Given the description of an element on the screen output the (x, y) to click on. 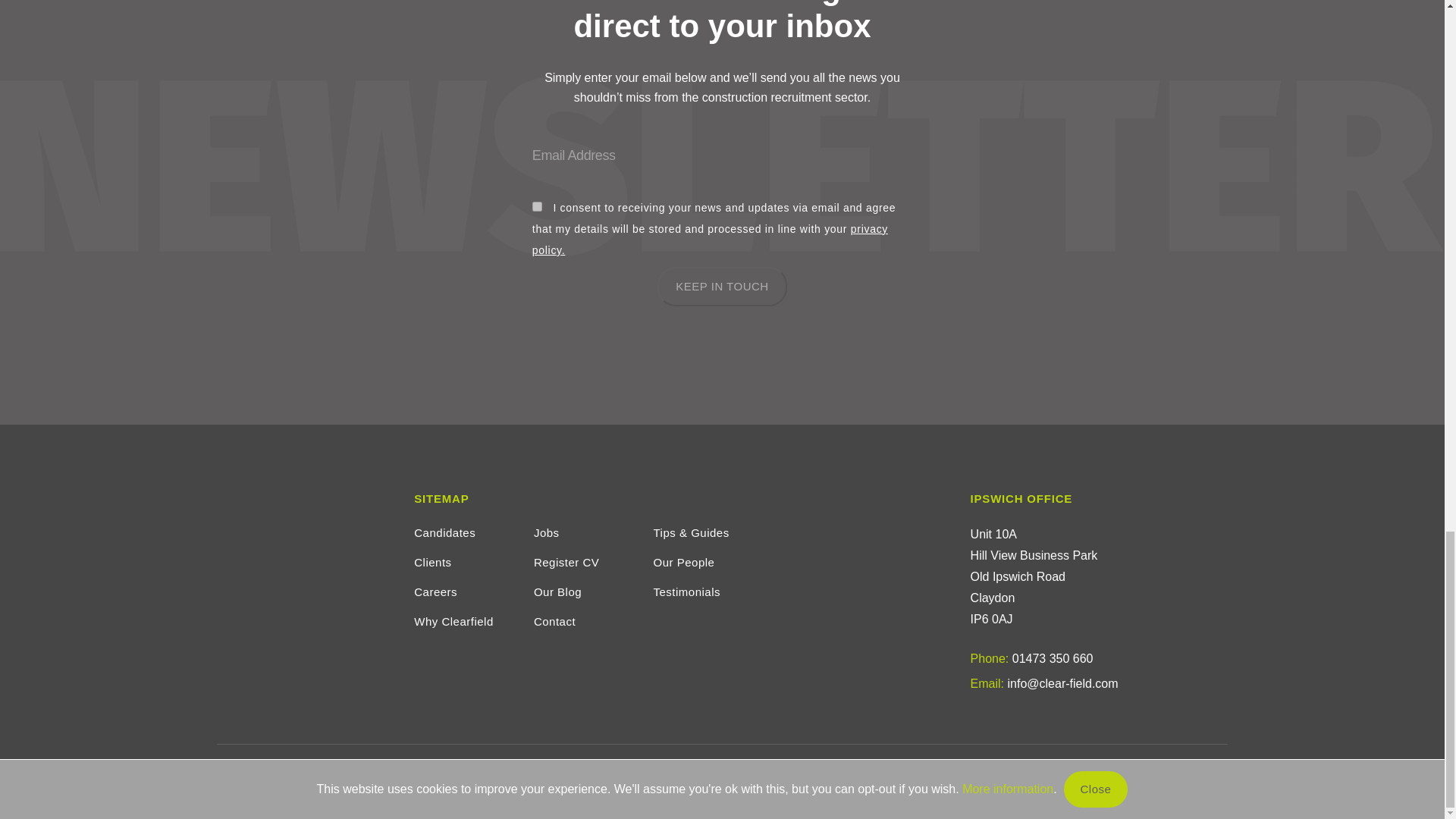
1 (536, 206)
KEEP IN TOUCH (722, 286)
